Given the description of an element on the screen output the (x, y) to click on. 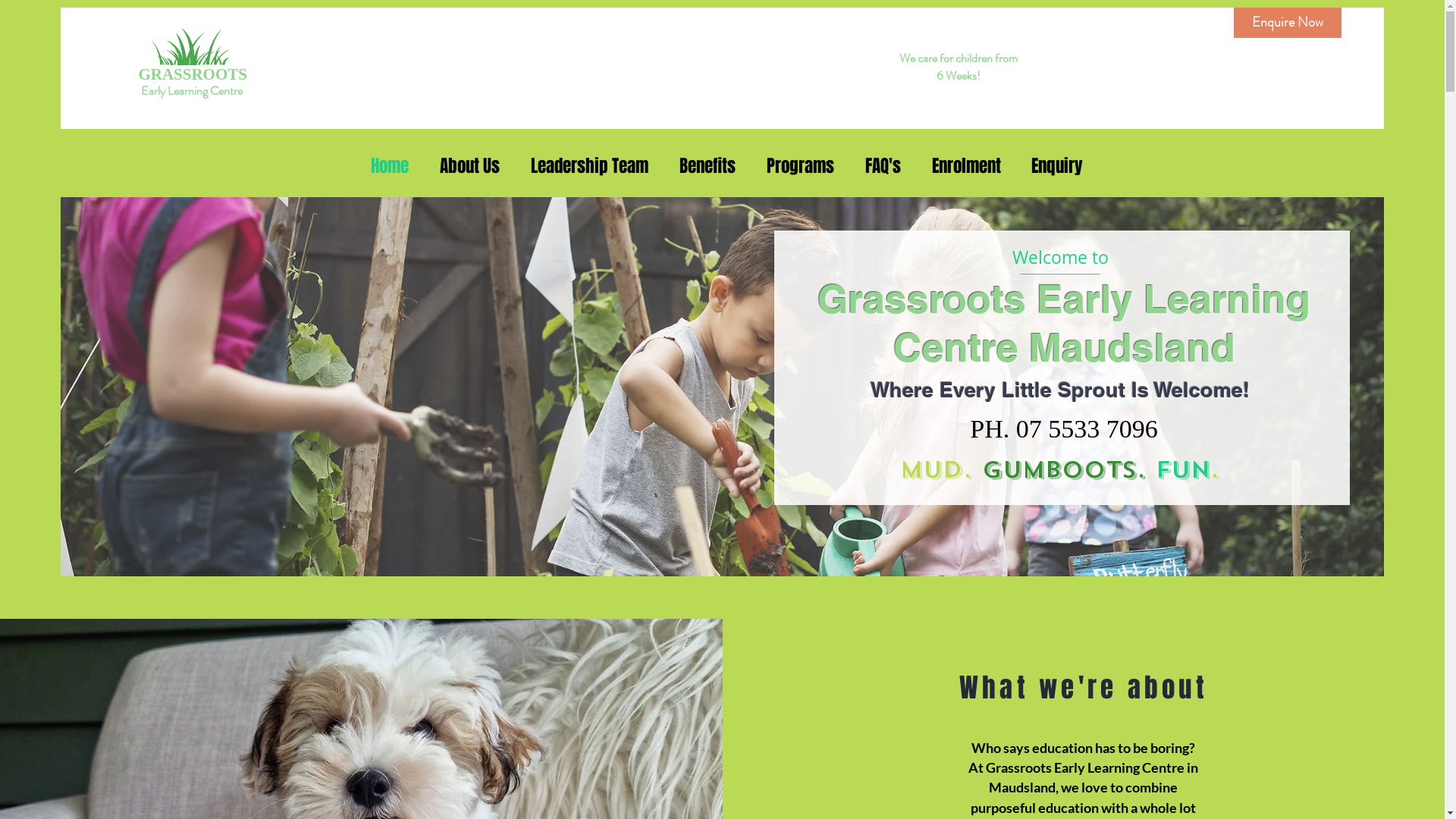
About Us Element type: text (465, 165)
GRASSROOTS Element type: text (192, 74)
Enquire Now Element type: text (1287, 22)
FAQ's Element type: text (877, 165)
Enquiry Element type: text (1052, 165)
Leadership Team Element type: text (585, 165)
We care for children from 6 Weeks! Element type: text (958, 66)
Benefits Element type: text (702, 165)
Programs Element type: text (795, 165)
Enrolment Element type: text (961, 165)
Home Element type: text (384, 165)
Early Learning Centre Element type: text (191, 90)
07 5533 7096 Element type: text (1086, 428)
